Given the description of an element on the screen output the (x, y) to click on. 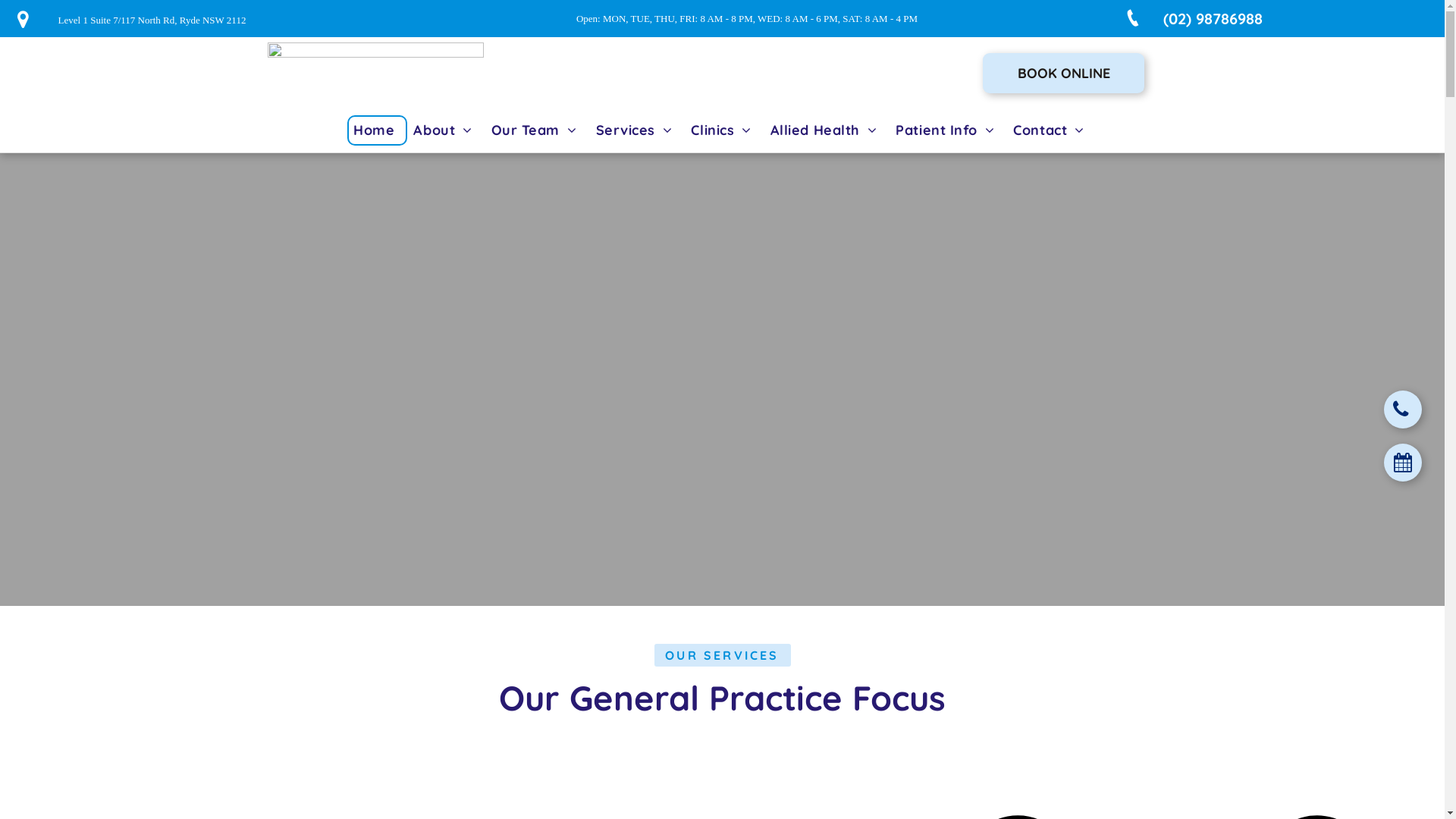
Our Team Element type: text (537, 130)
BOOK ONLINE Element type: text (1063, 73)
Home Element type: text (377, 130)
Contact Element type: text (1051, 130)
Allied Health Element type: text (827, 130)
Level 1 Suite 7/117 North Rd, Ryde NSW 2112 Element type: text (151, 19)
Clinics Element type: text (723, 130)
About Element type: text (445, 130)
Patient Info Element type: text (948, 130)
(02) 98786988 Element type: text (1185, 18)
Services Element type: text (637, 130)
